Given the description of an element on the screen output the (x, y) to click on. 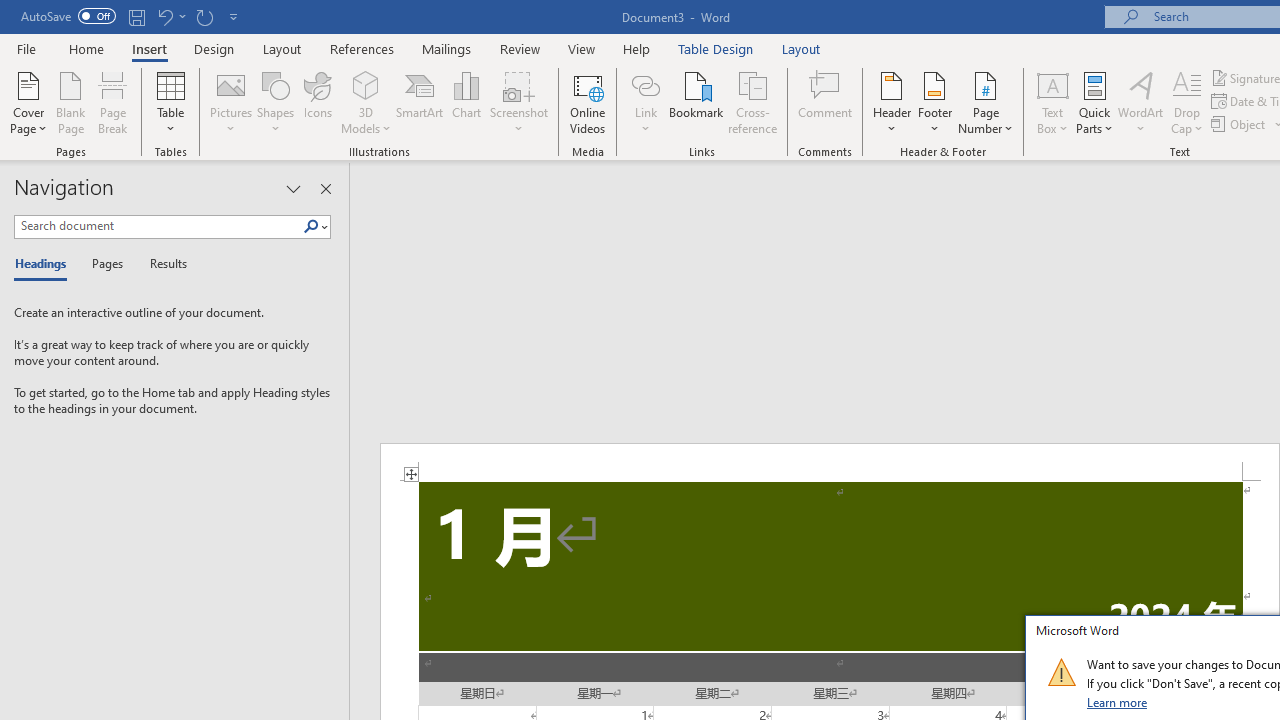
AutoSave (68, 16)
Link (645, 102)
Link (645, 84)
Header -Section 1- (830, 461)
Search (315, 227)
Pictures (230, 102)
Headings (45, 264)
Insert (149, 48)
Task Pane Options (293, 188)
Text Box (1052, 102)
Table (170, 102)
Cross-reference... (752, 102)
